Given the description of an element on the screen output the (x, y) to click on. 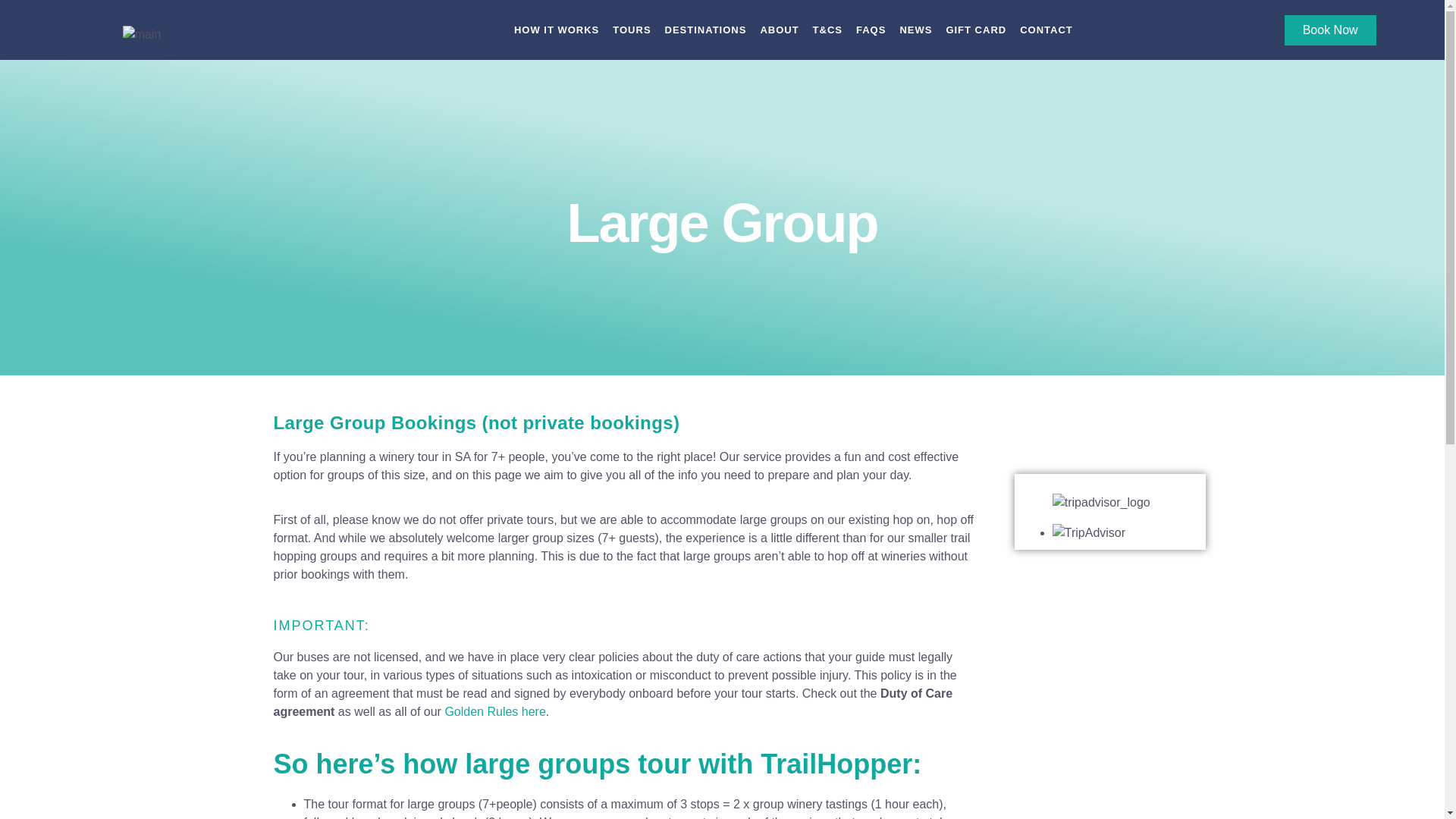
ABOUT (778, 38)
NEWS (915, 38)
Book Now (1329, 39)
GIFT CARD (975, 38)
HOW IT WORKS (555, 38)
CONTACT (1046, 38)
DESTINATIONS (705, 38)
TOURS (631, 38)
